Given the description of an element on the screen output the (x, y) to click on. 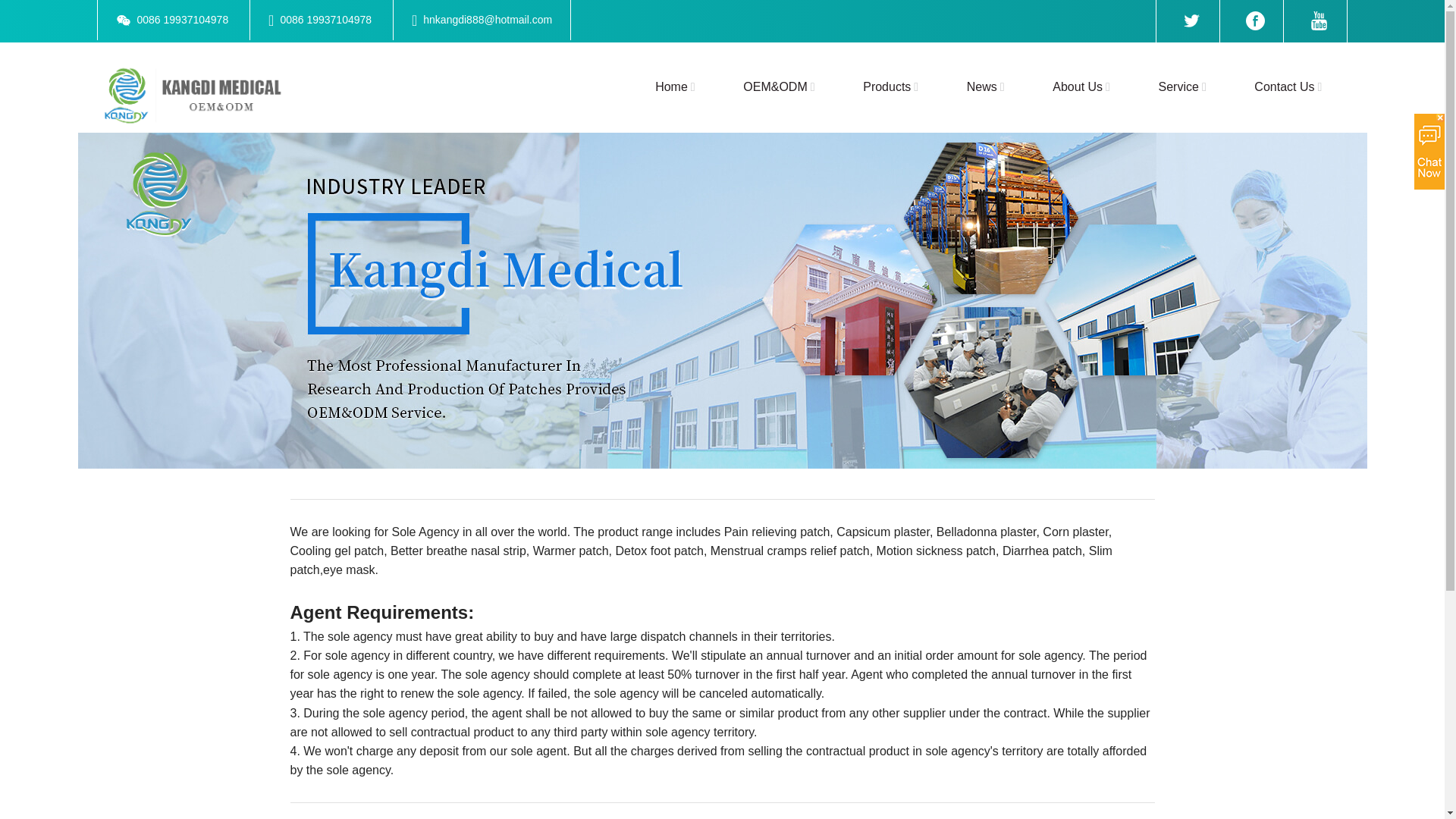
About Us (1084, 86)
Home (678, 86)
Service (1185, 86)
News (988, 86)
Products (893, 86)
